Given the description of an element on the screen output the (x, y) to click on. 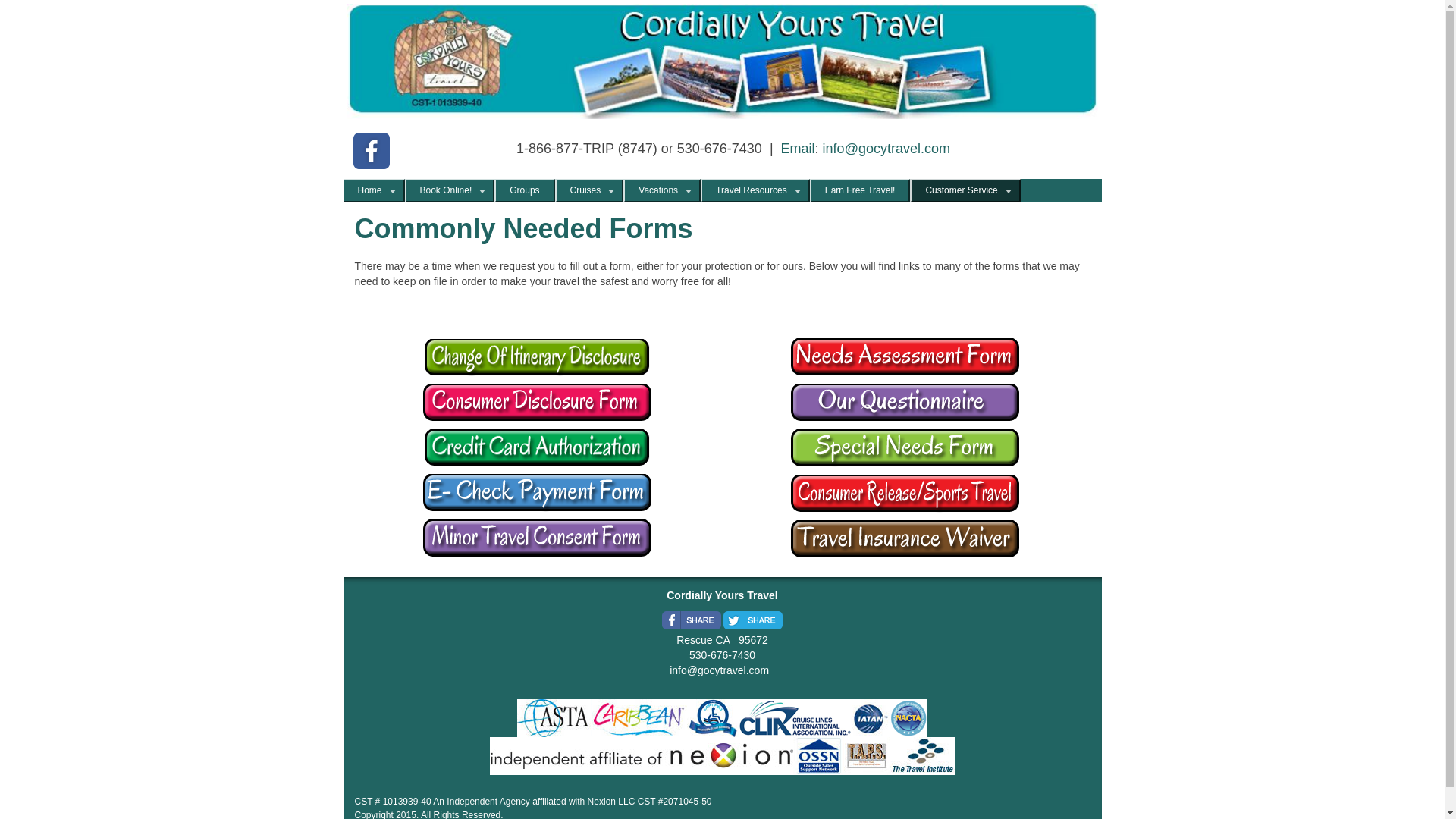
Visit our Facebook page (371, 150)
Share this page to Facebook (691, 619)
Cruises (585, 190)
Home (369, 190)
Groups (524, 190)
Book Online! (446, 190)
Customer Service (960, 190)
Earn Free Travel! (859, 190)
Vacations (657, 190)
Travel Resources (750, 190)
